Given the description of an element on the screen output the (x, y) to click on. 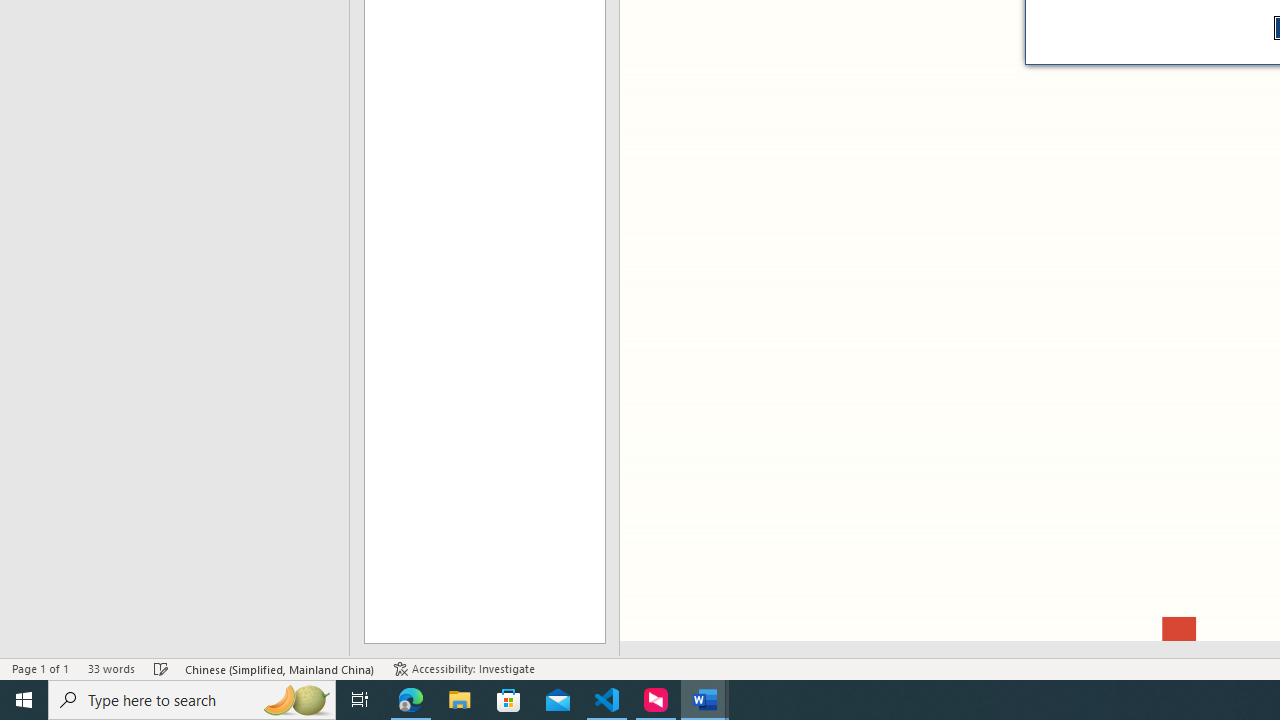
Accessibility Checker Accessibility: Investigate (464, 668)
Visual Studio Code - 1 running window (607, 699)
Word - 2 running windows (704, 699)
Type here to search (191, 699)
Page Number Page 1 of 1 (39, 668)
Microsoft Store (509, 699)
Spelling and Grammar Check Checking (161, 668)
Search highlights icon opens search home window (295, 699)
Task View (359, 699)
Start (24, 699)
Language Chinese (Simplified, Mainland China) (279, 668)
Microsoft Edge - 1 running window (411, 699)
File Explorer (460, 699)
